Given the description of an element on the screen output the (x, y) to click on. 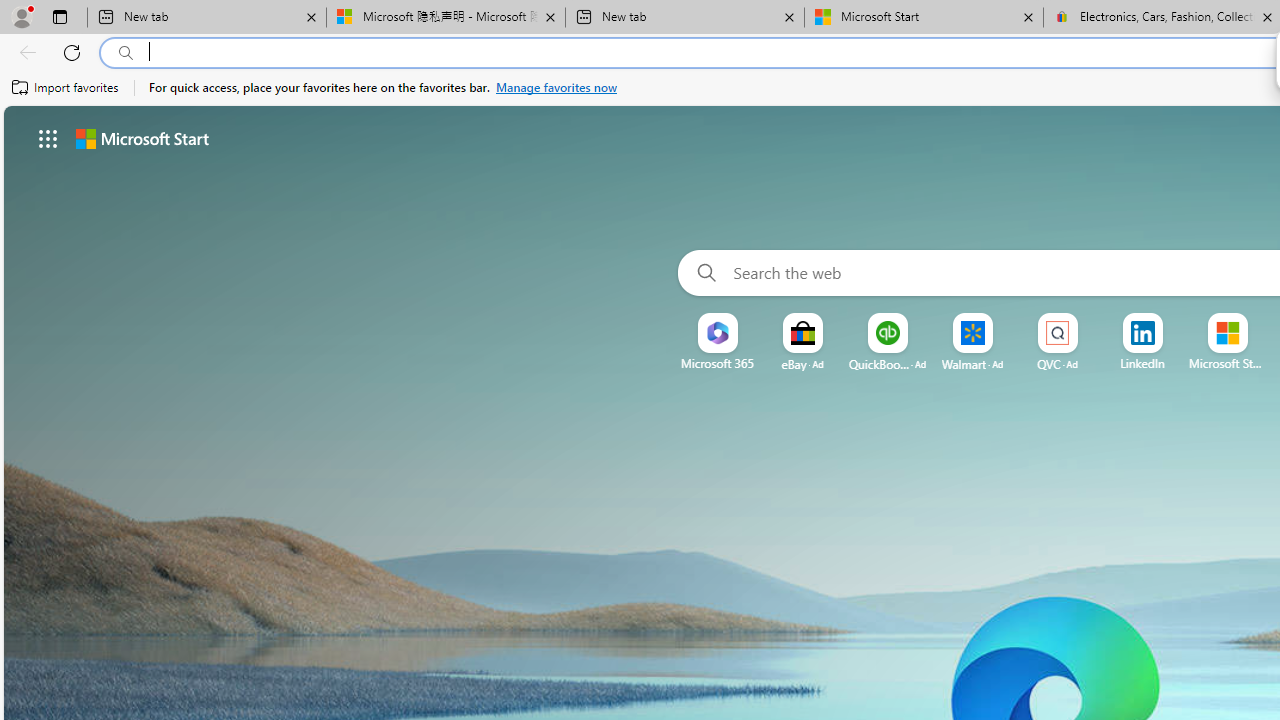
To get missing image descriptions, open the context menu. (717, 333)
Microsoft start (142, 138)
App launcher (47, 138)
LinkedIn (1142, 363)
